Given the description of an element on the screen output the (x, y) to click on. 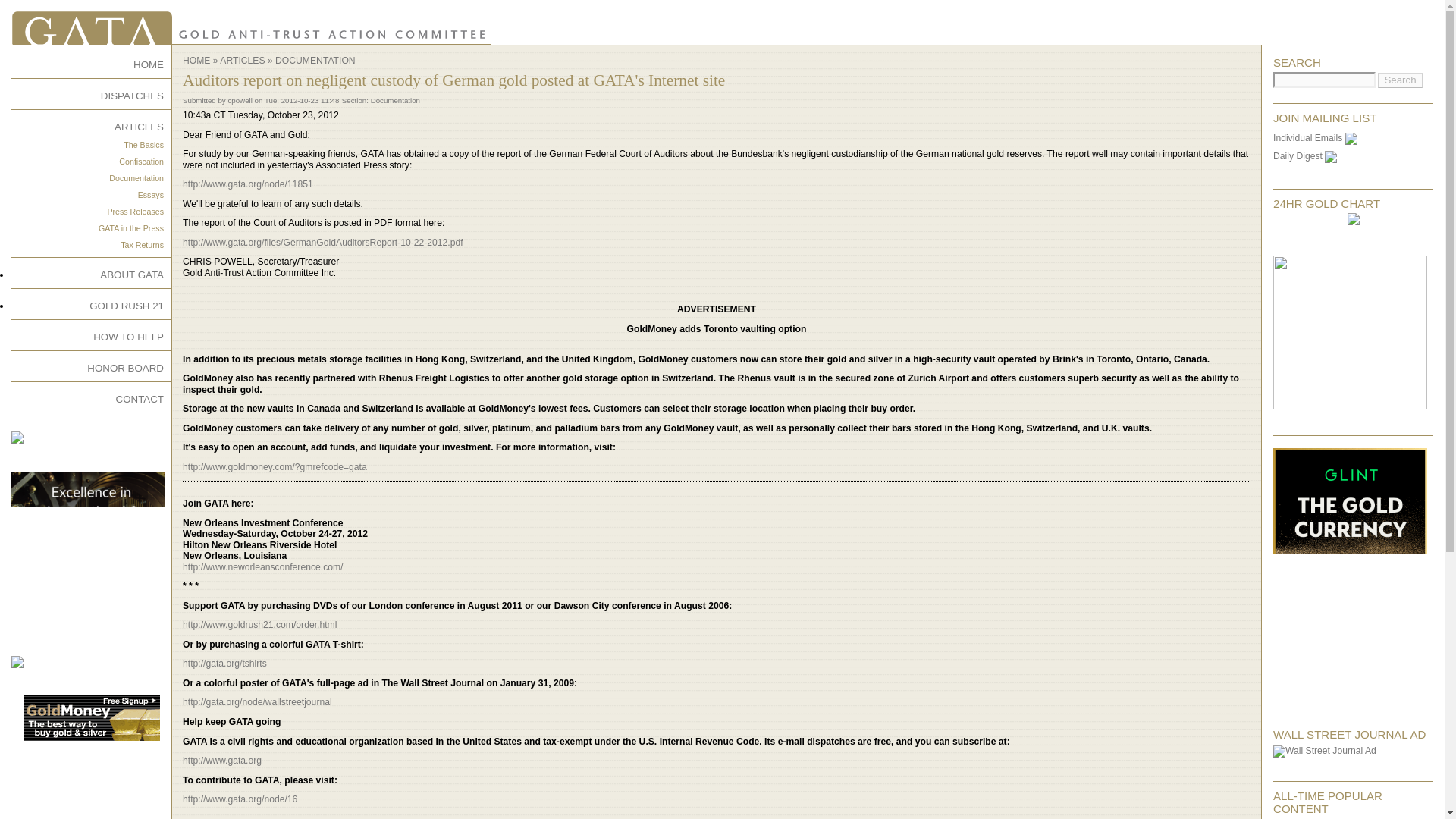
Confiscation (141, 161)
Enter the terms you wish to search for. (1323, 79)
Tax Returns (141, 244)
DOCUMENTATION (315, 60)
HONOR BOARD (125, 367)
GOLD RUSH 21 (125, 306)
ABOUT GATA (131, 274)
Essays (150, 194)
CONTACT (139, 398)
Press Releases (134, 211)
Documentation (136, 177)
Documentation (395, 100)
DISPATCHES (131, 95)
HOME (148, 64)
HOW TO HELP (128, 337)
